Given the description of an element on the screen output the (x, y) to click on. 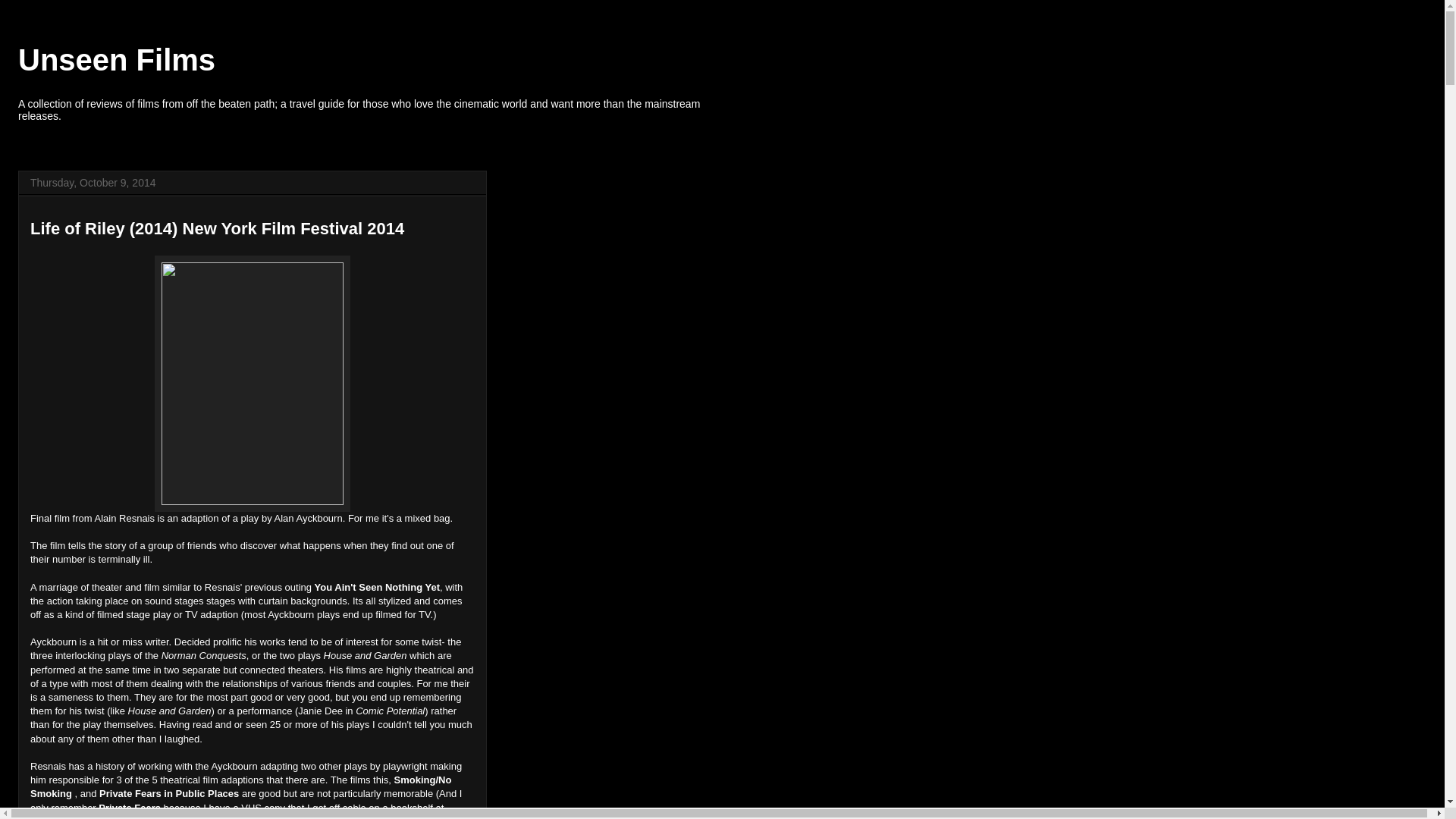
Unseen Films (116, 59)
